Given the description of an element on the screen output the (x, y) to click on. 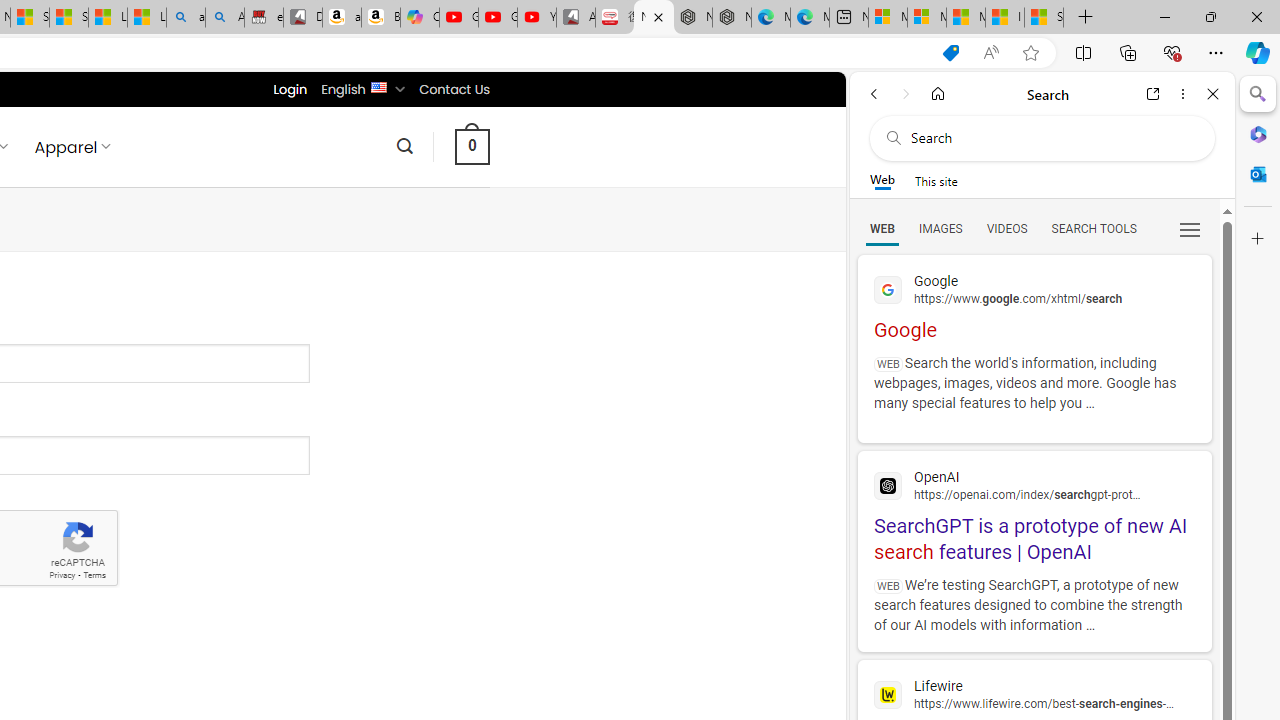
OpenAI (1034, 484)
Terms (94, 575)
All Cubot phones (575, 17)
Search Filter, WEB (882, 228)
SEARCH TOOLS (1093, 228)
I Gained 20 Pounds of Muscle in 30 Days! | Watch (1004, 17)
Lifewire (1034, 693)
 0  (472, 146)
Contact Us (454, 89)
More options (1182, 93)
